Given the description of an element on the screen output the (x, y) to click on. 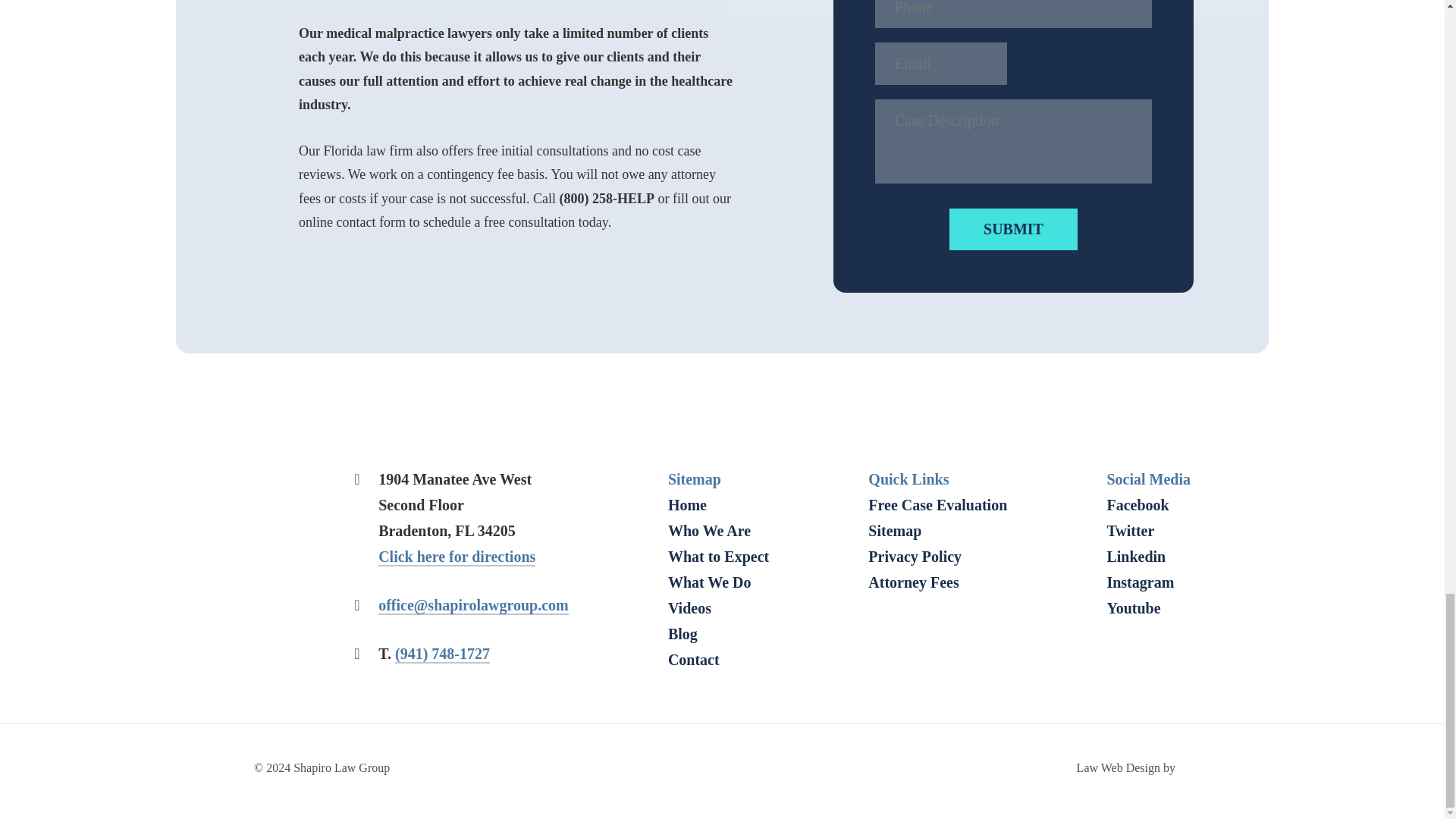
Submit (1013, 229)
Free Case Evaluation (937, 504)
Home (687, 504)
Sitemap (894, 530)
Who We Are (709, 530)
Contact (693, 659)
Submit (1013, 229)
Privacy Policy (913, 556)
Videos (689, 607)
What We Do (709, 582)
Click here for directions (456, 556)
Blog (682, 633)
What to Expect (718, 556)
